Given the description of an element on the screen output the (x, y) to click on. 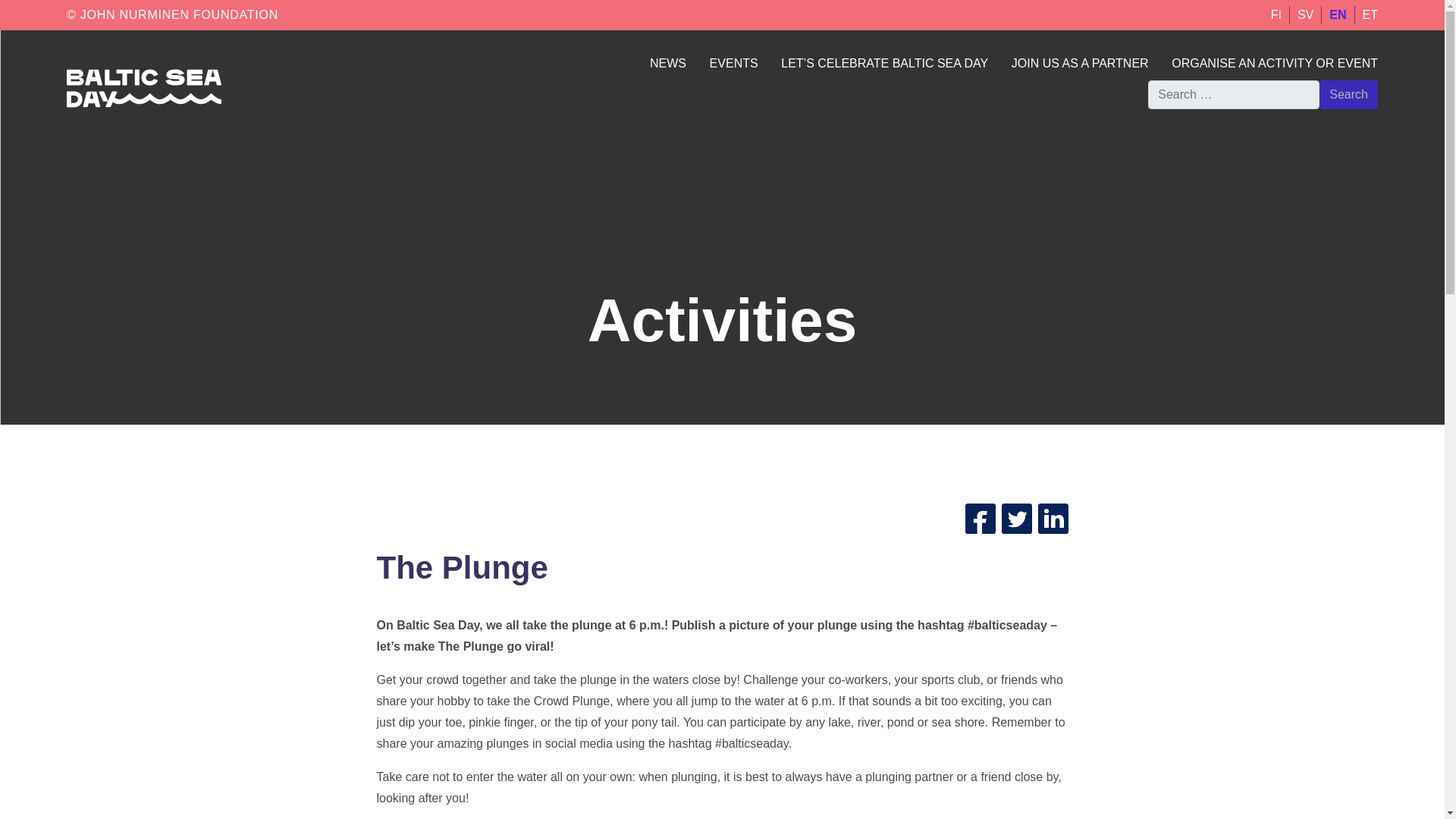
ORGANISE AN ACTIVITY OR EVENT (1274, 62)
Search (1348, 94)
EN (1337, 14)
JOIN US AS A PARTNER (1079, 62)
Search (1348, 94)
NEWS (667, 62)
SV (1305, 14)
Search (1348, 94)
EVENTS (734, 62)
ET (1369, 14)
